Given the description of an element on the screen output the (x, y) to click on. 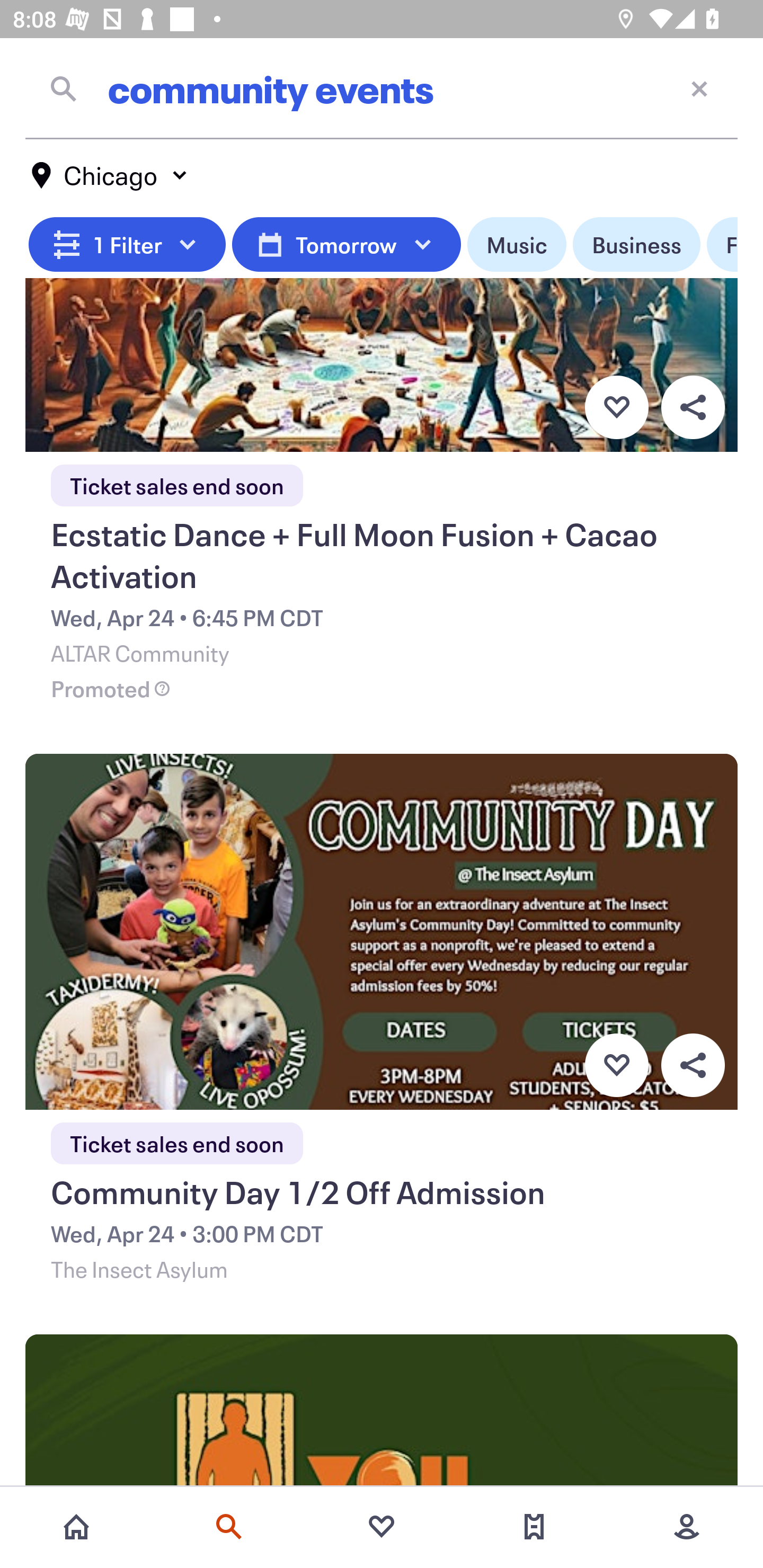
community events Close current screen (381, 88)
Close current screen (699, 88)
Chicago (110, 175)
Favorite button (616, 406)
Overflow menu button (692, 406)
Favorite button (616, 1065)
Overflow menu button (692, 1065)
Home (76, 1526)
Search events (228, 1526)
Favorites (381, 1526)
Tickets (533, 1526)
More (686, 1526)
